Given the description of an element on the screen output the (x, y) to click on. 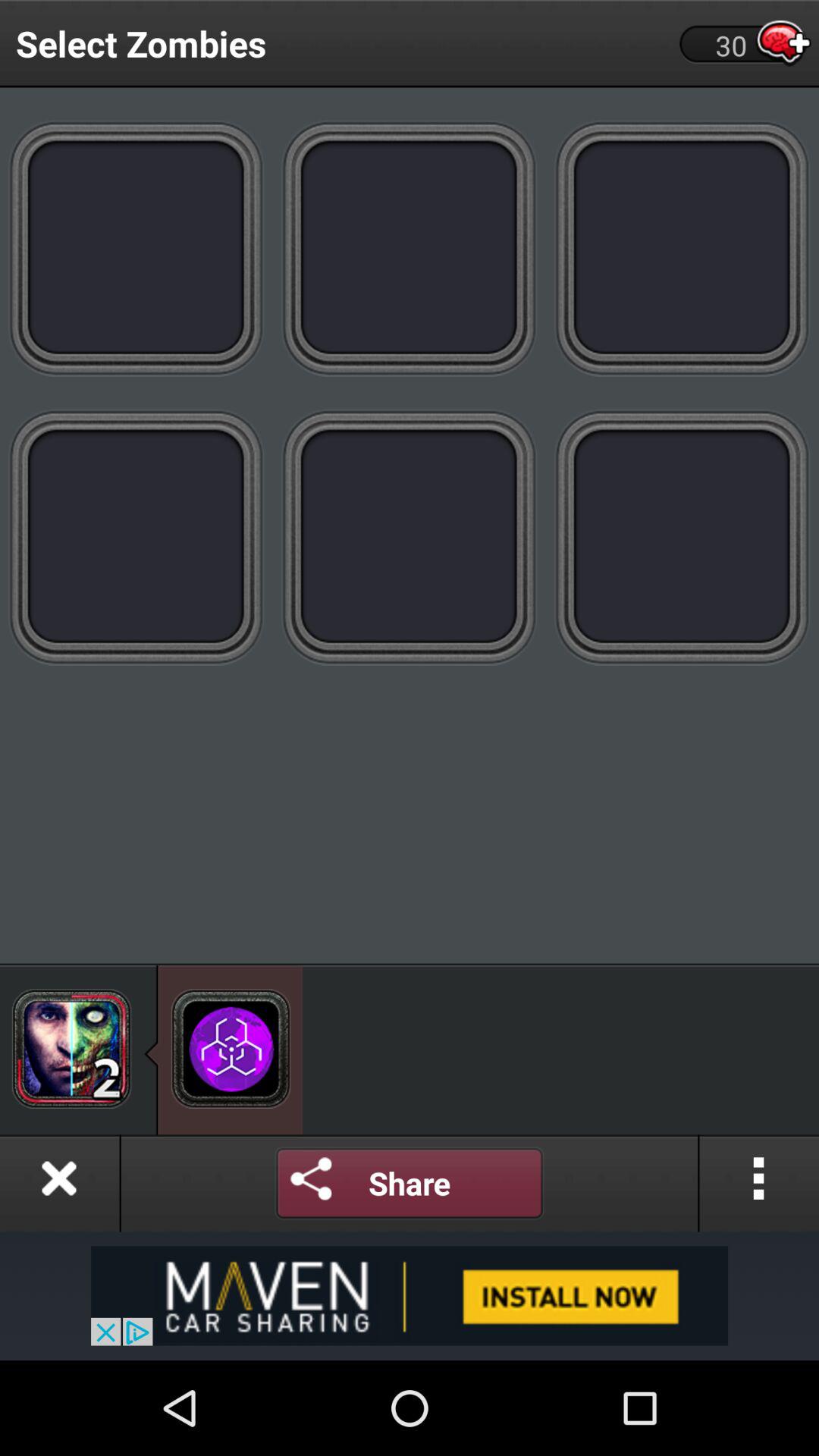
close button (59, 1182)
